Given the description of an element on the screen output the (x, y) to click on. 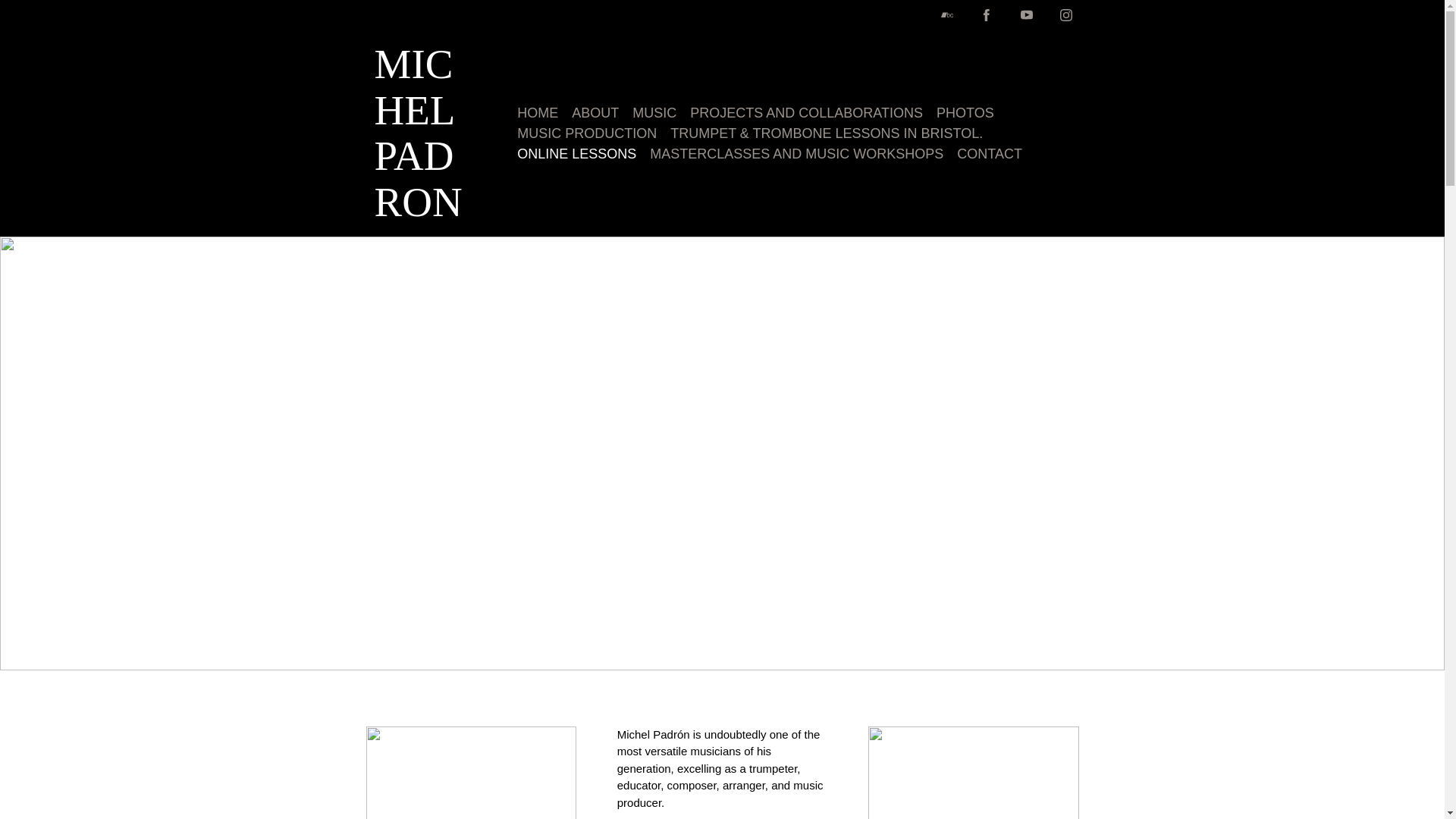
MUSIC (654, 113)
HOME (536, 113)
MASTERCLASSES AND MUSIC WORKSHOPS (796, 154)
ONLINE LESSONS (576, 154)
PHOTOS (965, 113)
MICHEL PADRON (425, 209)
CONTACT (989, 154)
PROJECTS AND COLLABORATIONS (806, 113)
MUSIC PRODUCTION (586, 132)
ABOUT (595, 113)
